Given the description of an element on the screen output the (x, y) to click on. 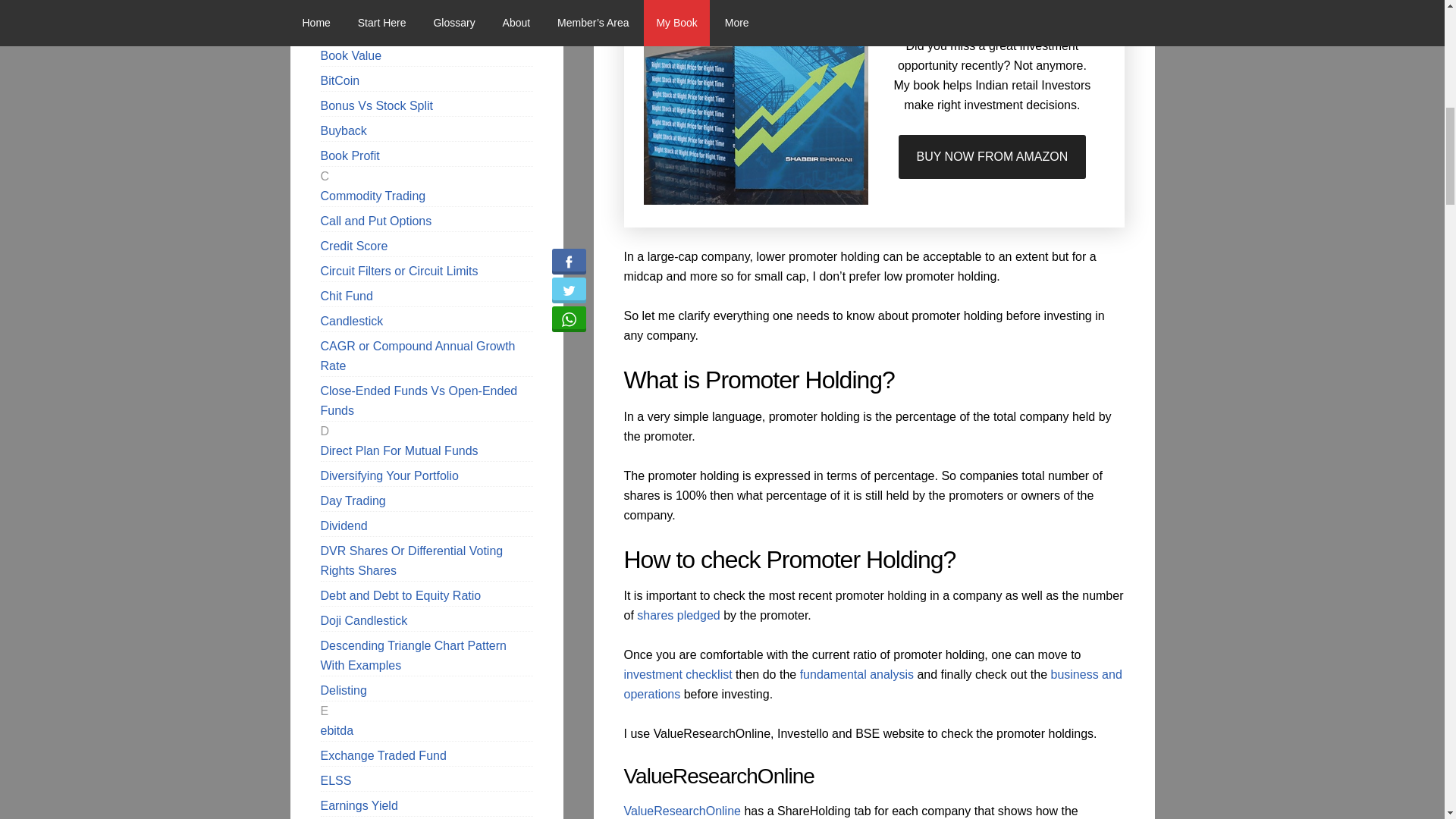
ValueResearchOnline (681, 810)
shares pledged (678, 615)
investment checklist (677, 674)
business and operations (872, 684)
BUY NOW FROM AMAZON (992, 157)
fundamental analysis (856, 674)
